Given the description of an element on the screen output the (x, y) to click on. 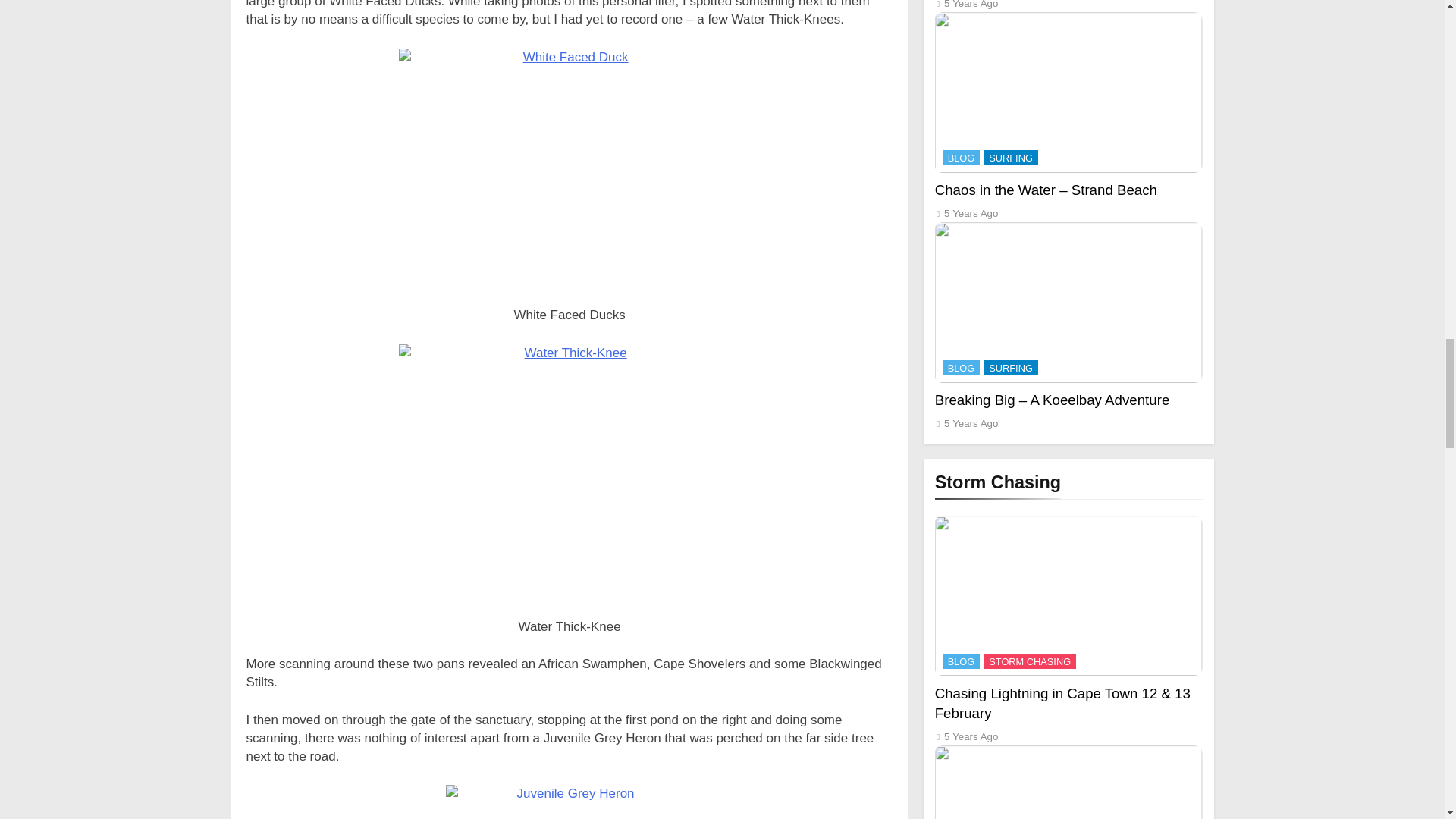
Juvenile Grey Heron (569, 801)
Thick-Knee (568, 475)
White Faced Duck (568, 172)
